Given the description of an element on the screen output the (x, y) to click on. 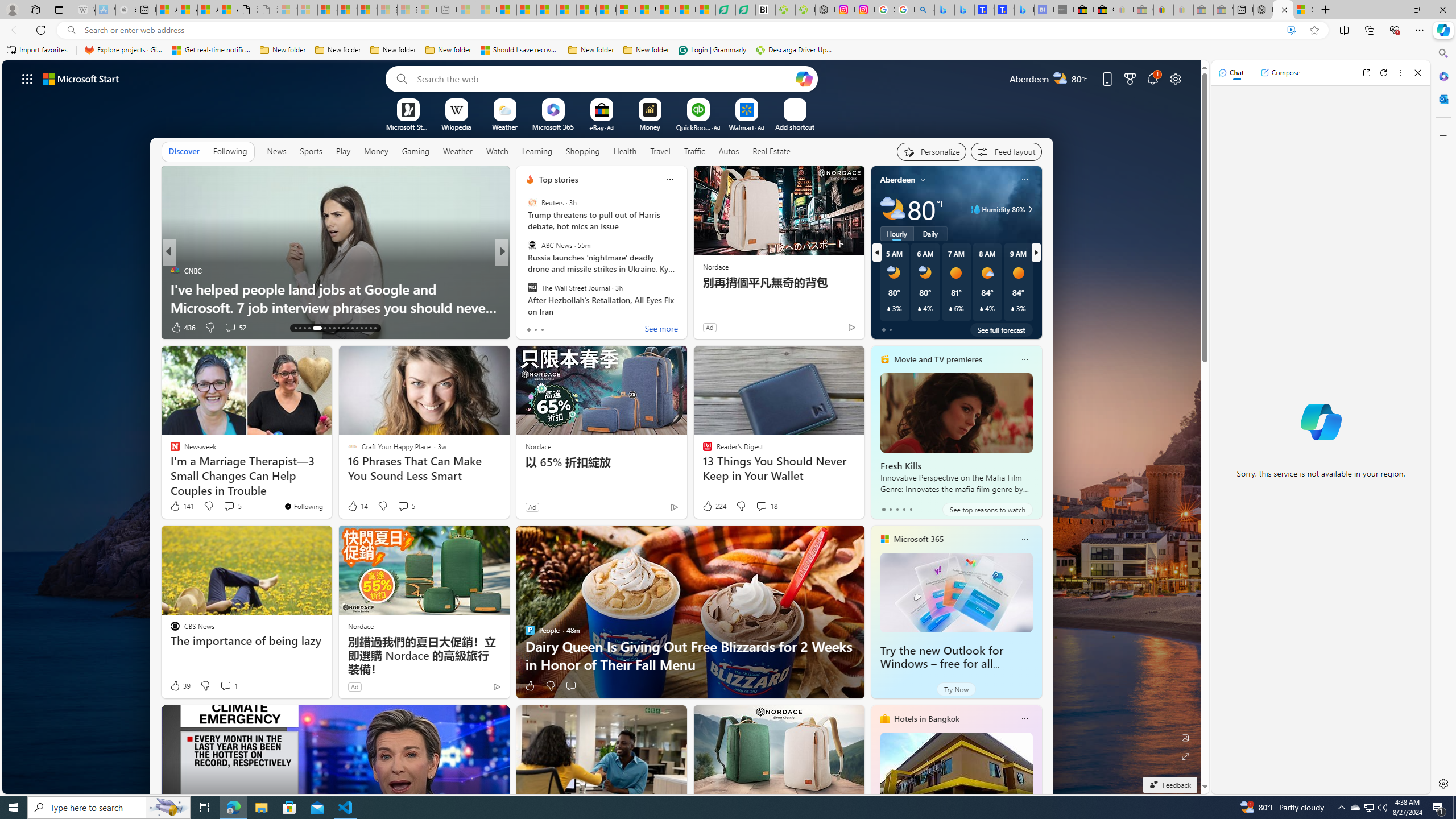
Movie and TV premieres (937, 359)
IT Concept (536, 288)
Kobocents (524, 270)
Nordace - Nordace Edin Collection (825, 9)
Top stories (558, 179)
775 Like (532, 327)
AutomationID: tab-13 (295, 328)
641 Like (532, 327)
